Given the description of an element on the screen output the (x, y) to click on. 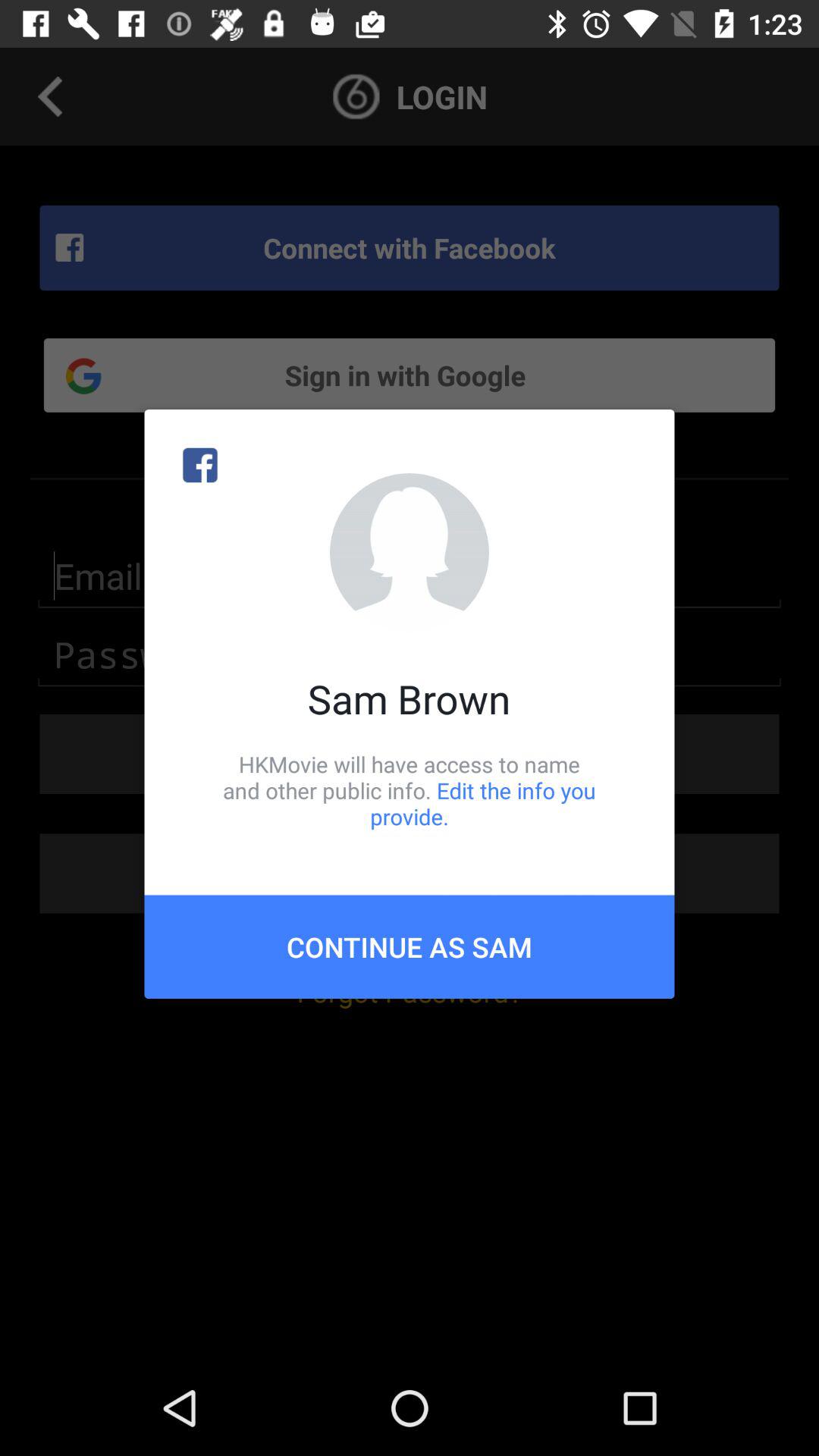
launch the continue as sam icon (409, 946)
